Given the description of an element on the screen output the (x, y) to click on. 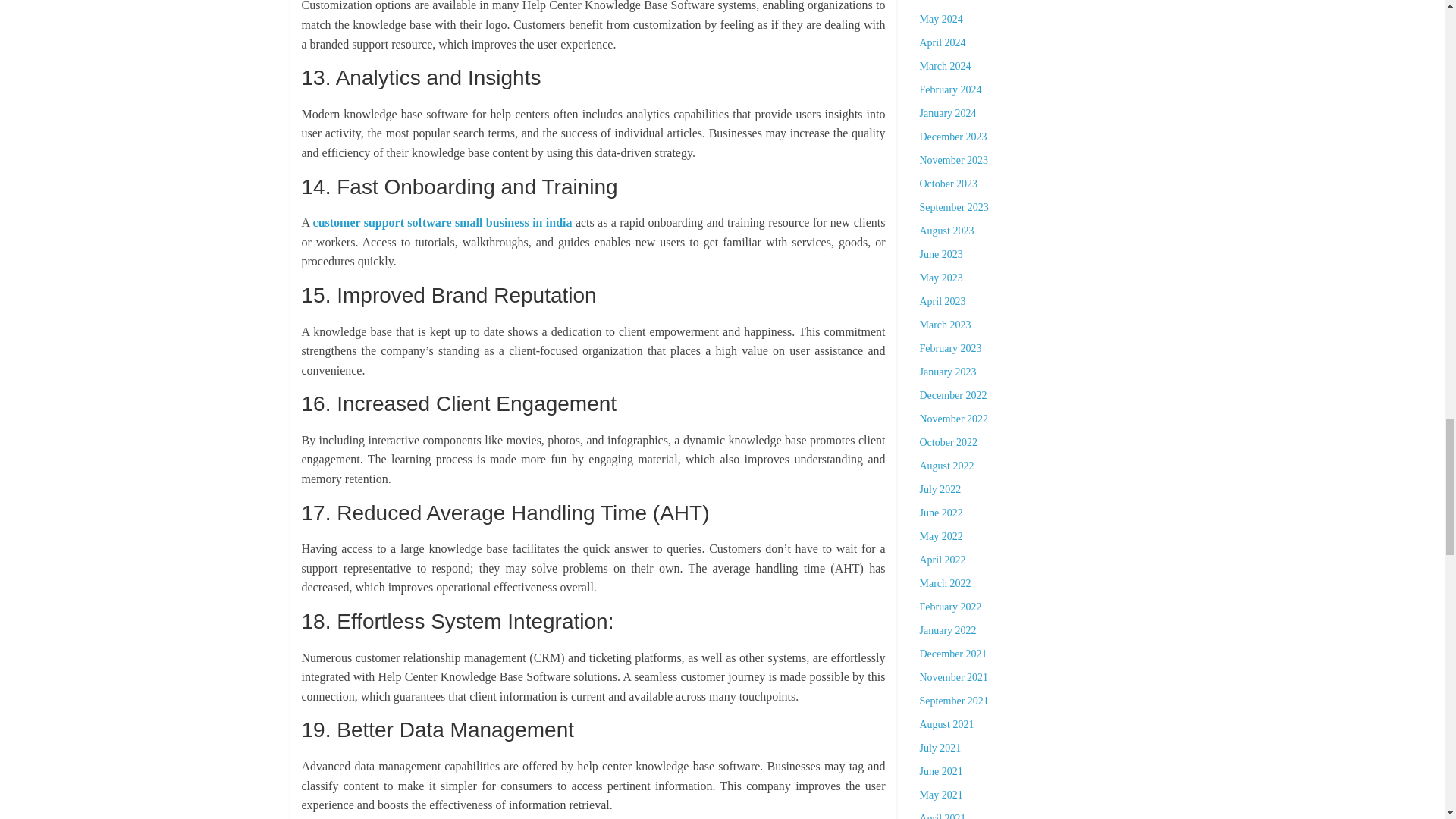
customer support software small business in india  (444, 222)
